Given the description of an element on the screen output the (x, y) to click on. 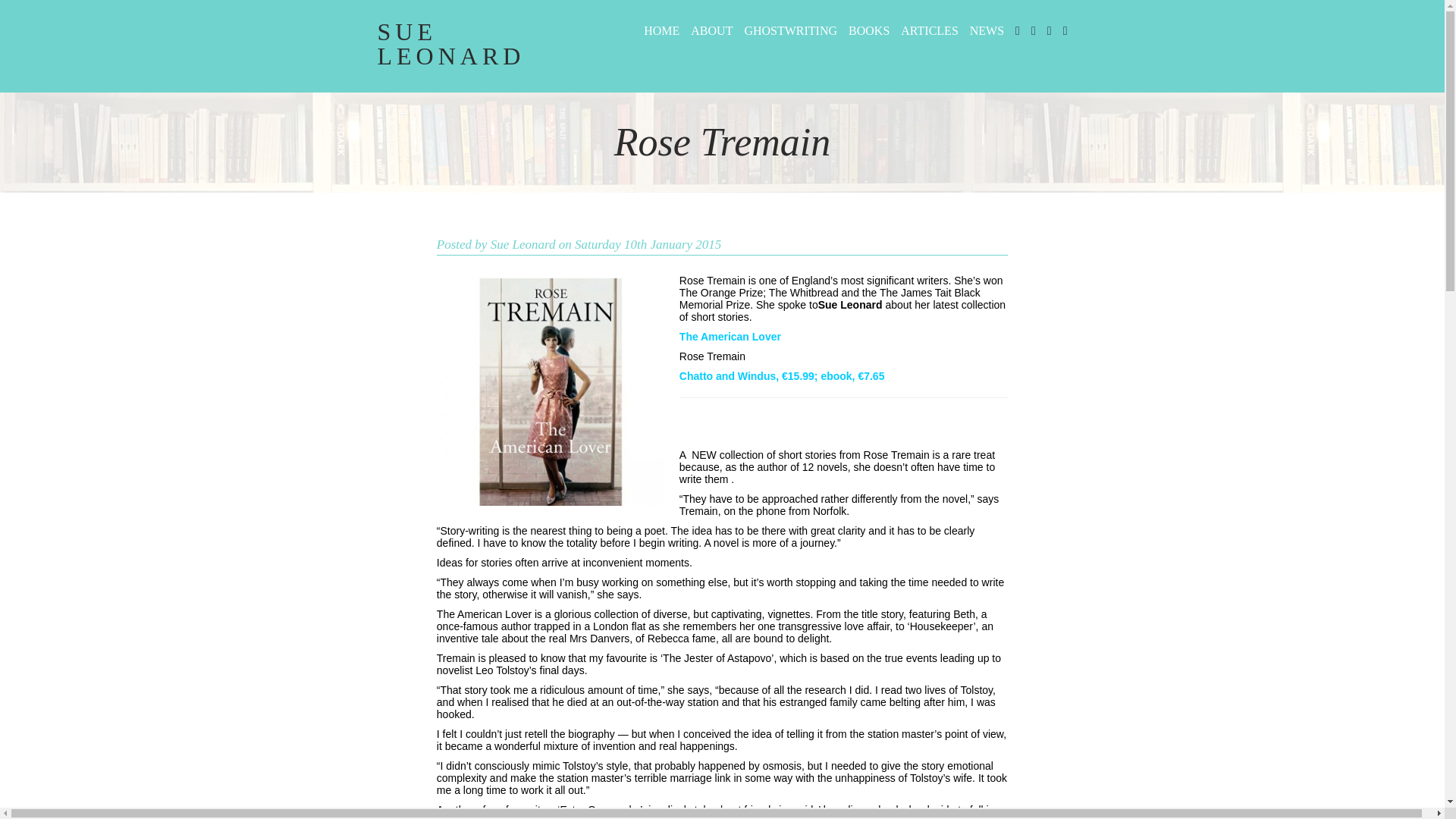
GHOSTWRITING (784, 30)
SUE LEONARD (484, 43)
BOOKS (863, 30)
HOME (655, 30)
NEWS (981, 30)
ABOUT (705, 30)
ARTICLES (923, 30)
Home (484, 43)
